Given the description of an element on the screen output the (x, y) to click on. 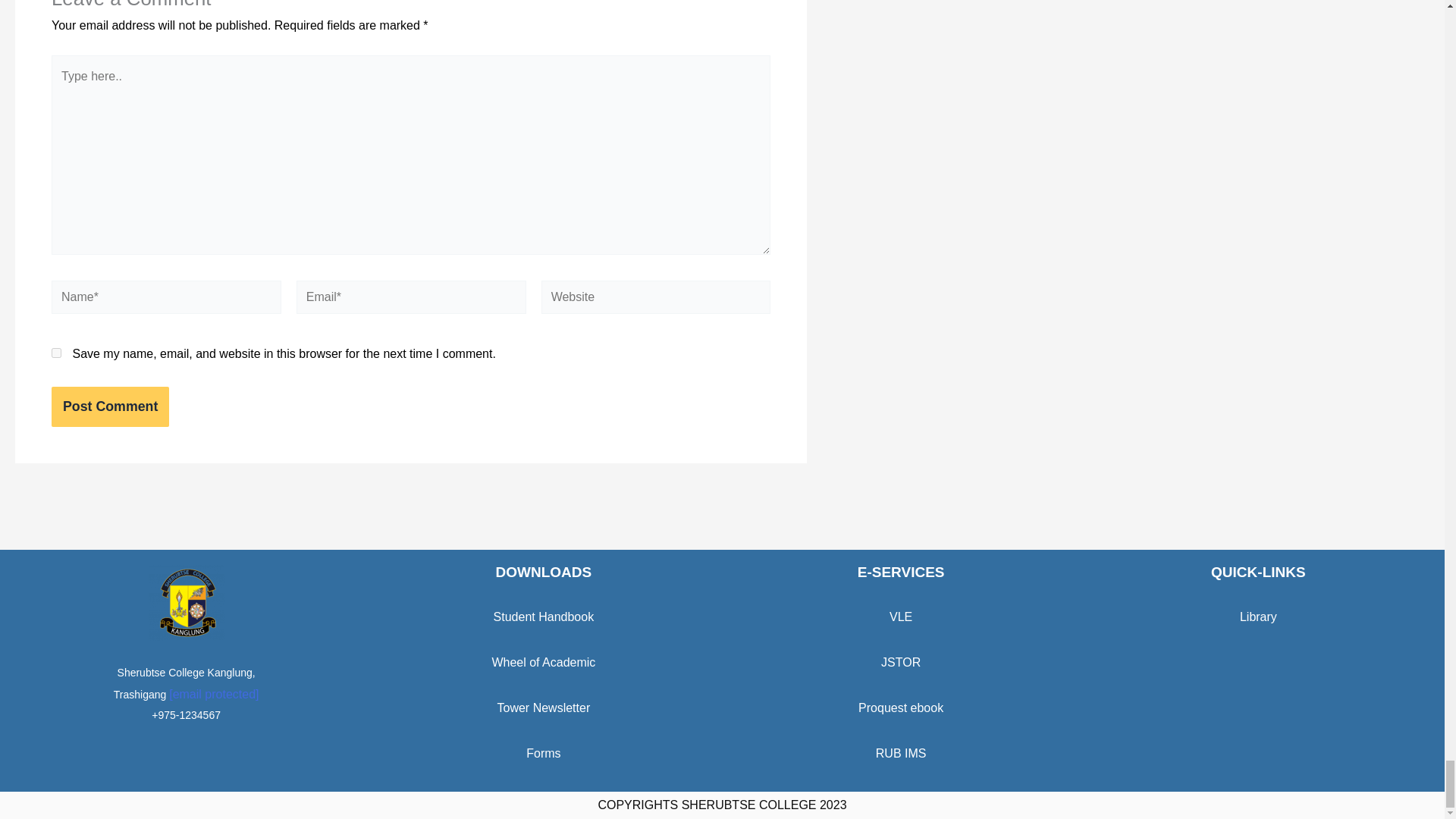
Post Comment (109, 406)
yes (55, 352)
